Given the description of an element on the screen output the (x, y) to click on. 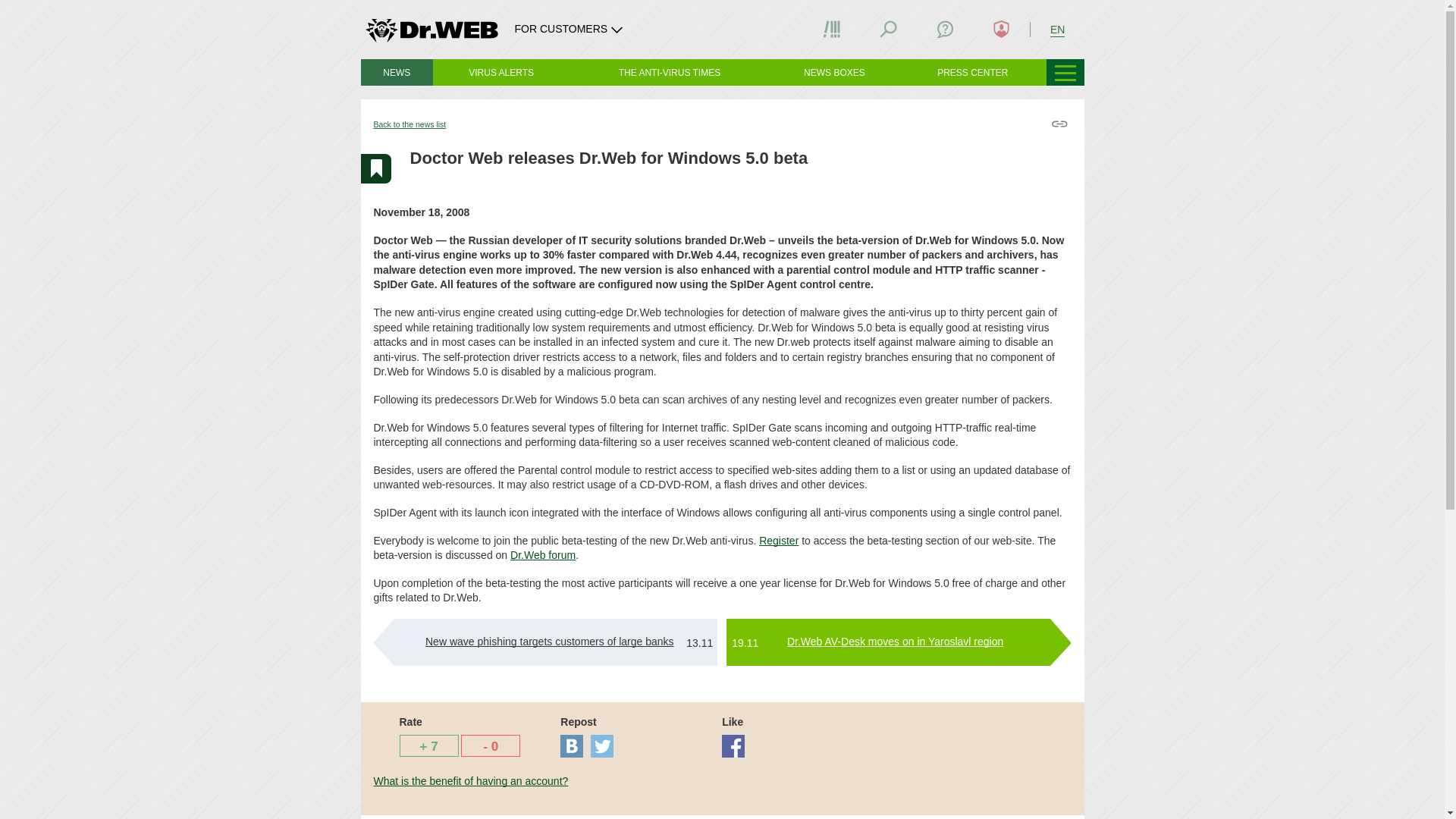
Contact us (945, 28)
Dr.Web AV-Desk moves on in Yaroslavl region (895, 641)
New wave phishing targets customers of large banks (549, 641)
Profile (1000, 28)
Library (831, 28)
Profile (1001, 28)
Other sections (1065, 71)
FOR CUSTOMERS (570, 28)
Library (831, 28)
Search (888, 28)
